Given the description of an element on the screen output the (x, y) to click on. 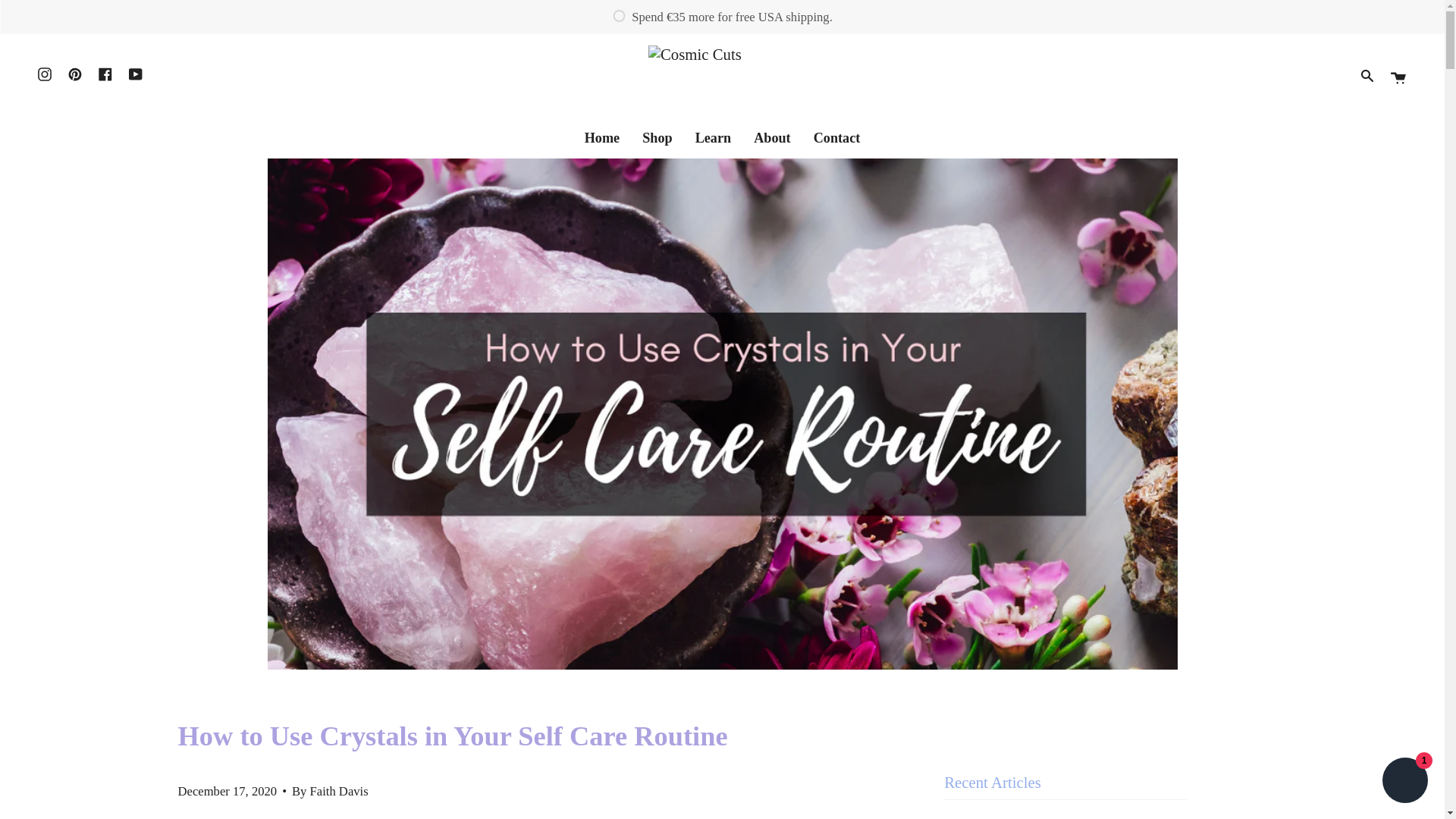
Shop (656, 138)
Home (601, 138)
Learn (713, 138)
About (772, 138)
